Given the description of an element on the screen output the (x, y) to click on. 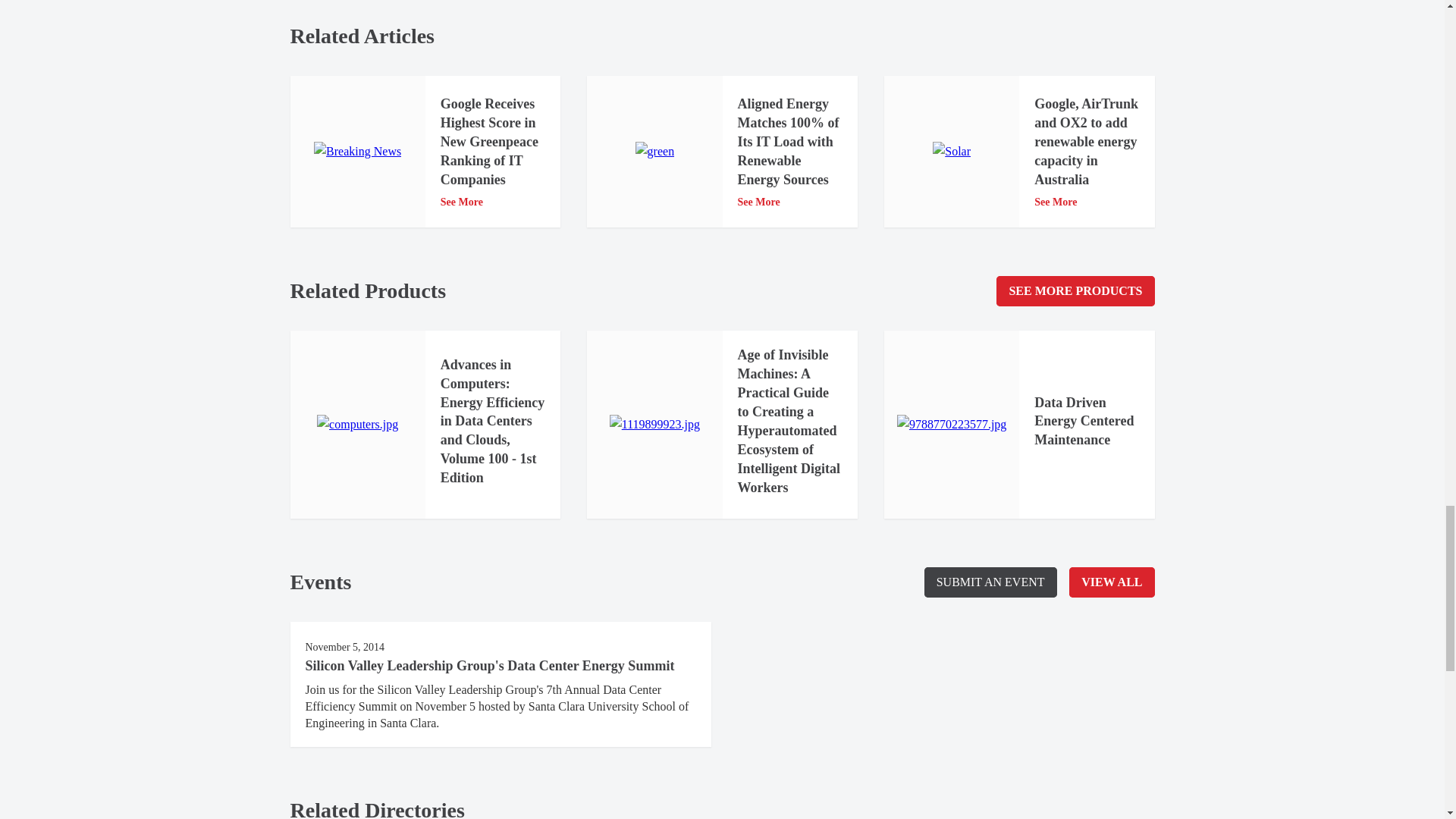
green (654, 151)
Solar (952, 151)
Breaking News (357, 151)
computers.jpg (357, 424)
9788770223577.jpg (951, 424)
1119899923.jpg (655, 424)
